Given the description of an element on the screen output the (x, y) to click on. 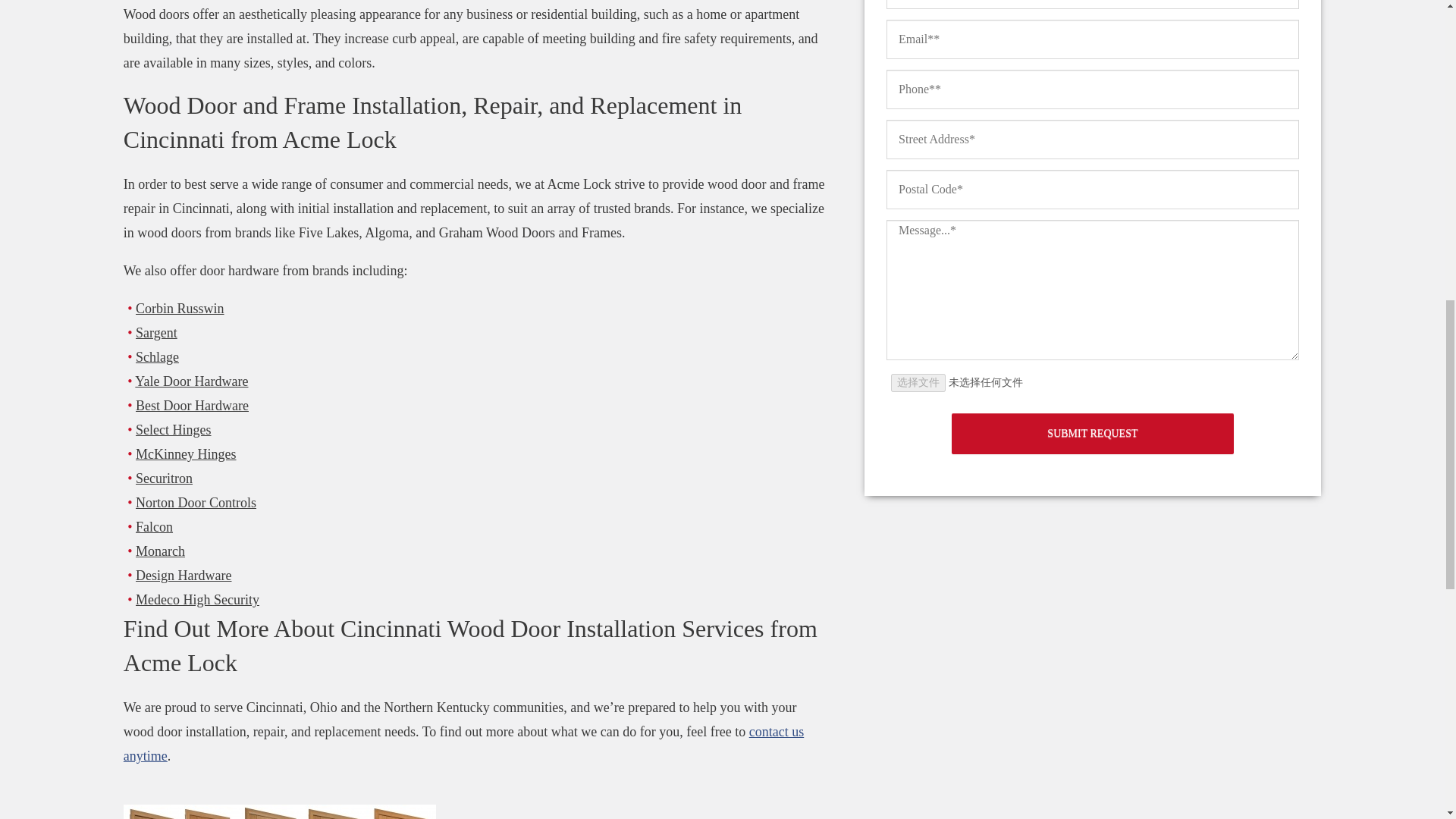
Sargent (156, 332)
Securitron (163, 478)
Falcon (154, 526)
Norton Door Controls (195, 502)
Schlage (157, 356)
Best Door Hardware (191, 405)
Schlage (157, 356)
Design Hardware (183, 575)
Yale Door Hardware (191, 381)
Monarch (159, 550)
Design Hardware (183, 575)
Corbin Russwin (179, 308)
Medeco High Security (197, 599)
Select Hinges (173, 429)
